Given the description of an element on the screen output the (x, y) to click on. 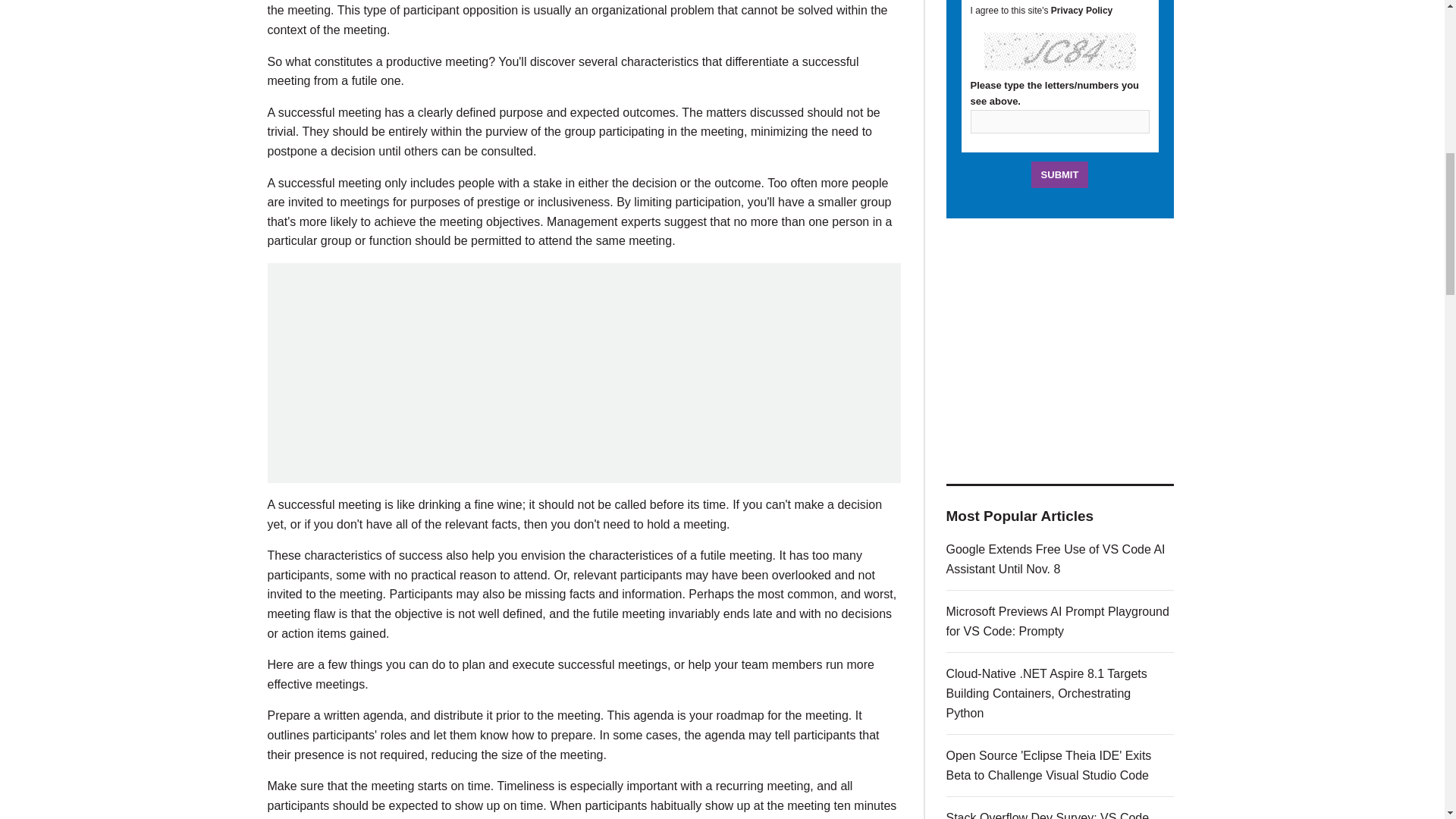
Submit (1059, 174)
3rd party ad content (583, 372)
3rd party ad content (1059, 350)
